Given the description of an element on the screen output the (x, y) to click on. 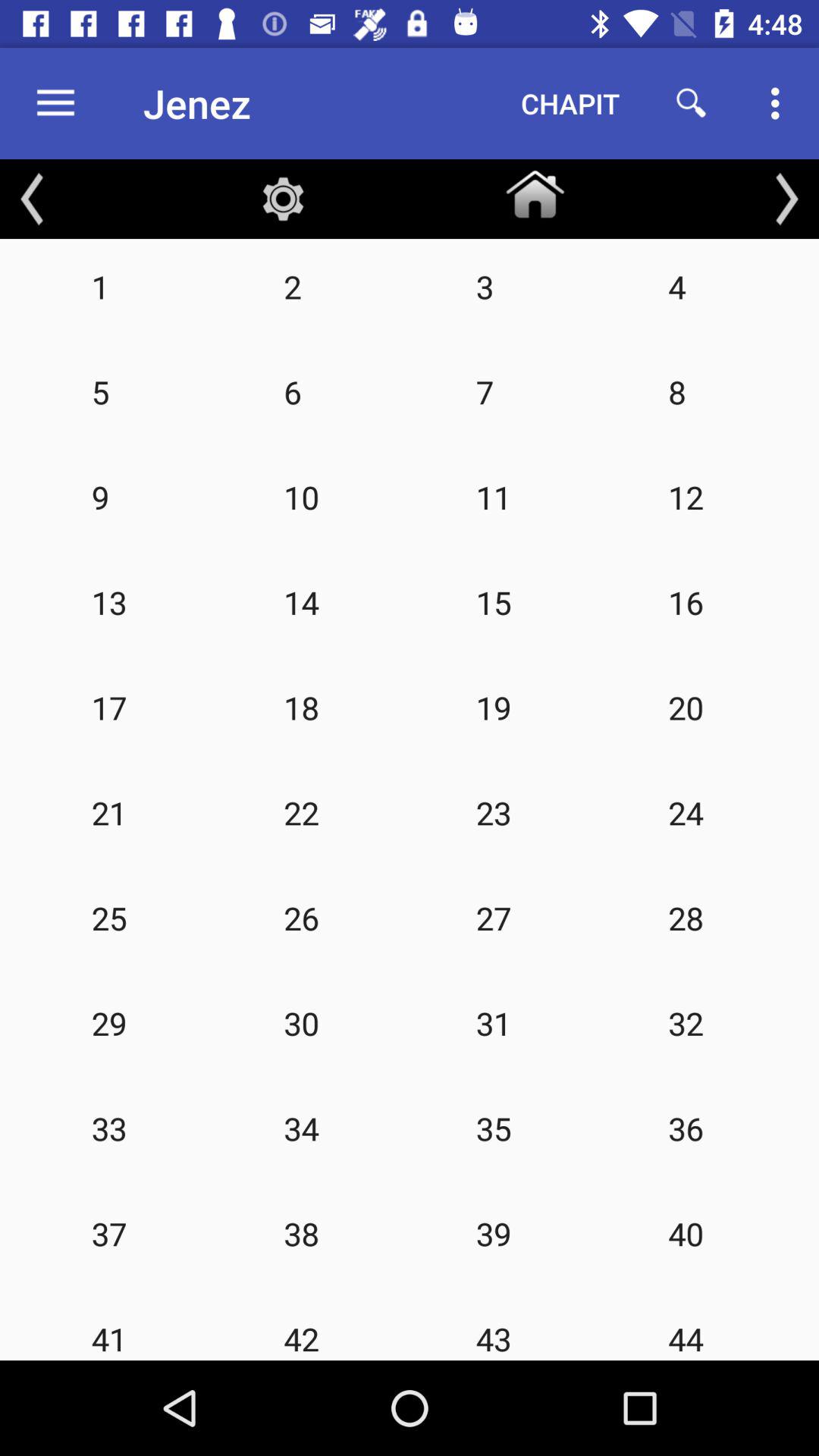
launch icon to the right of the chapit icon (691, 103)
